Given the description of an element on the screen output the (x, y) to click on. 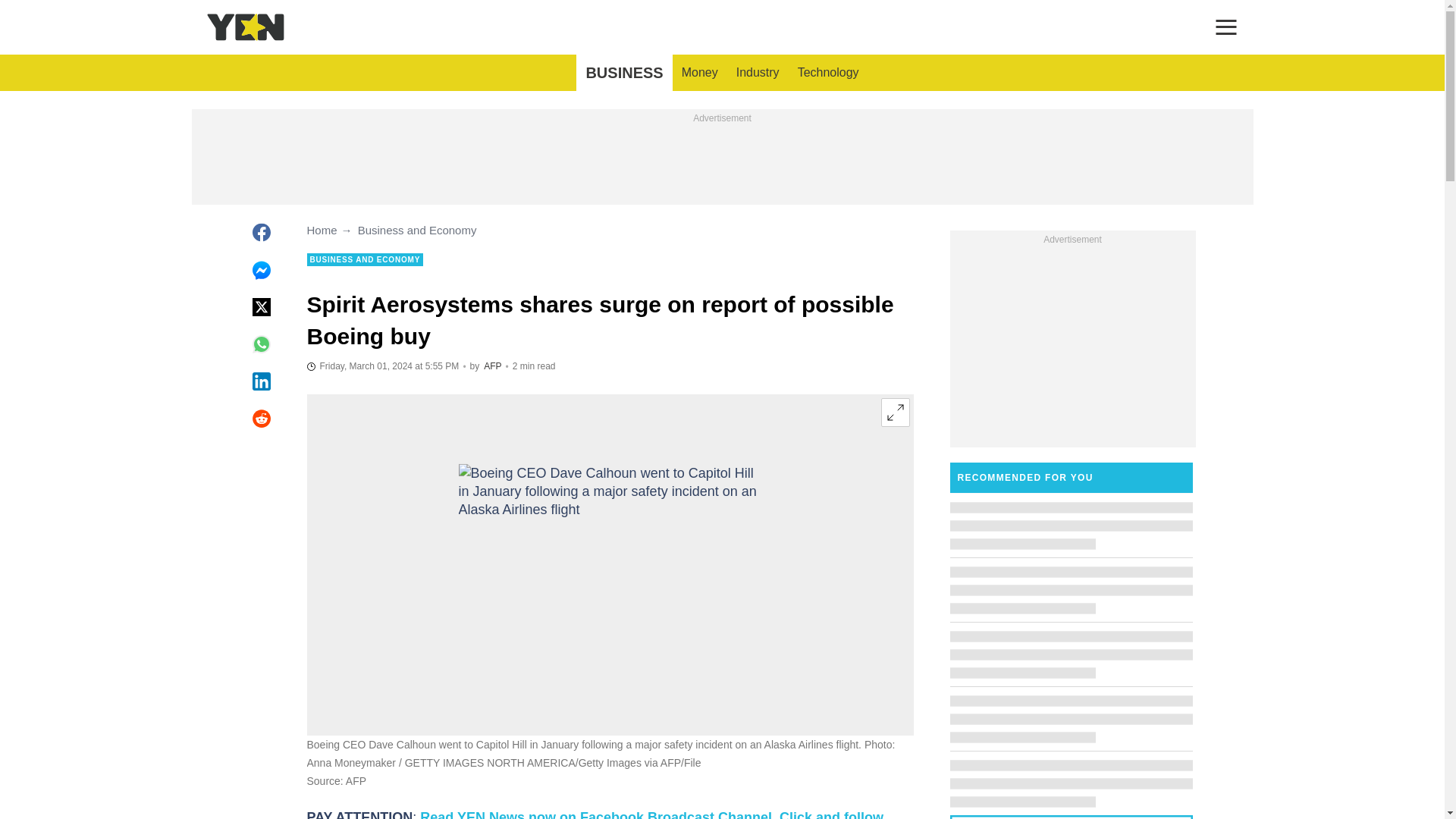
Technology (828, 72)
FB Broadcast Channel (594, 814)
BUSINESS (623, 72)
Money (699, 72)
Author page (491, 366)
Expand image (895, 412)
2024-03-01T17:55:05Z (381, 366)
Industry (757, 72)
